Given the description of an element on the screen output the (x, y) to click on. 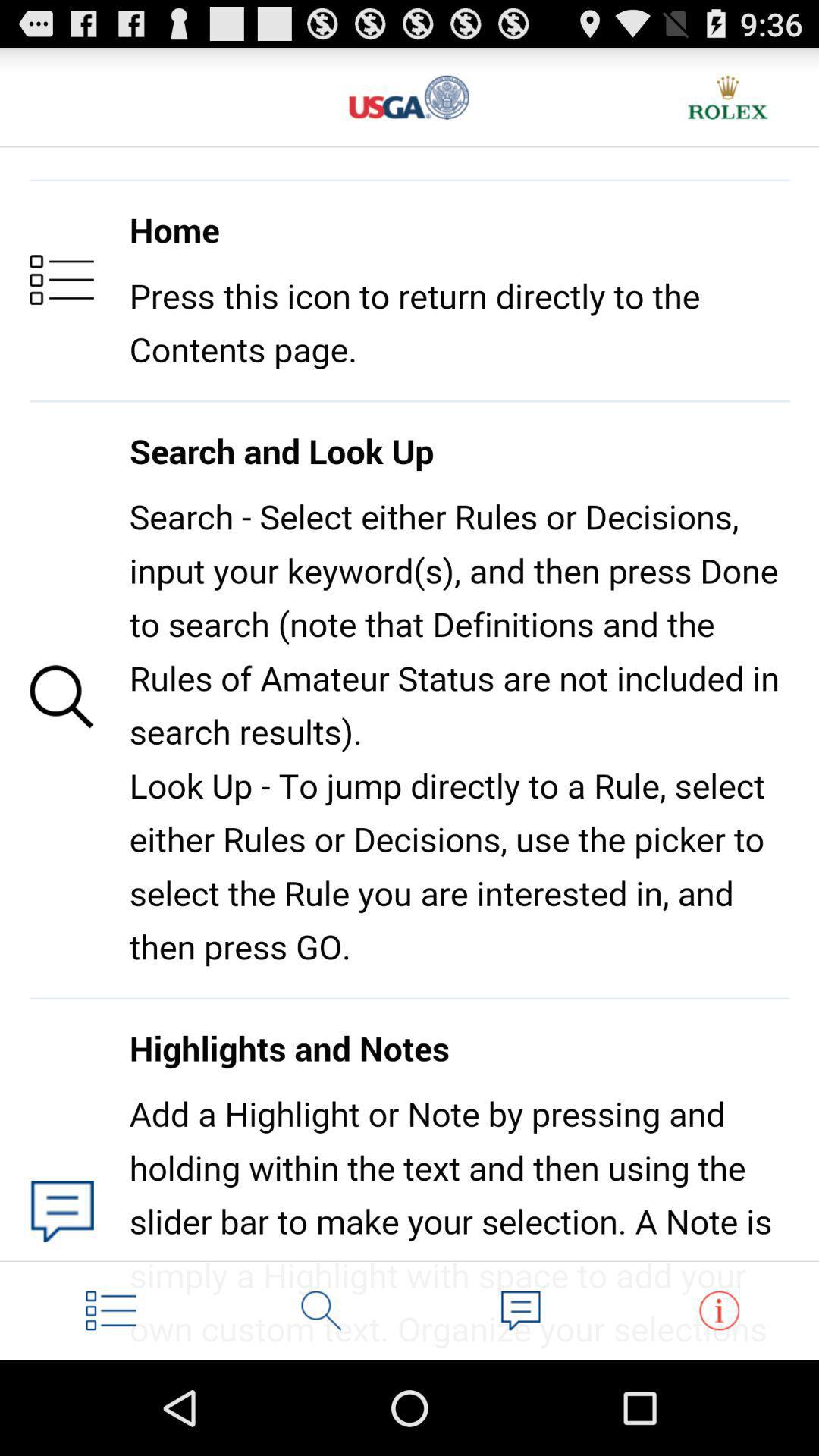
go to search (321, 1310)
